Given the description of an element on the screen output the (x, y) to click on. 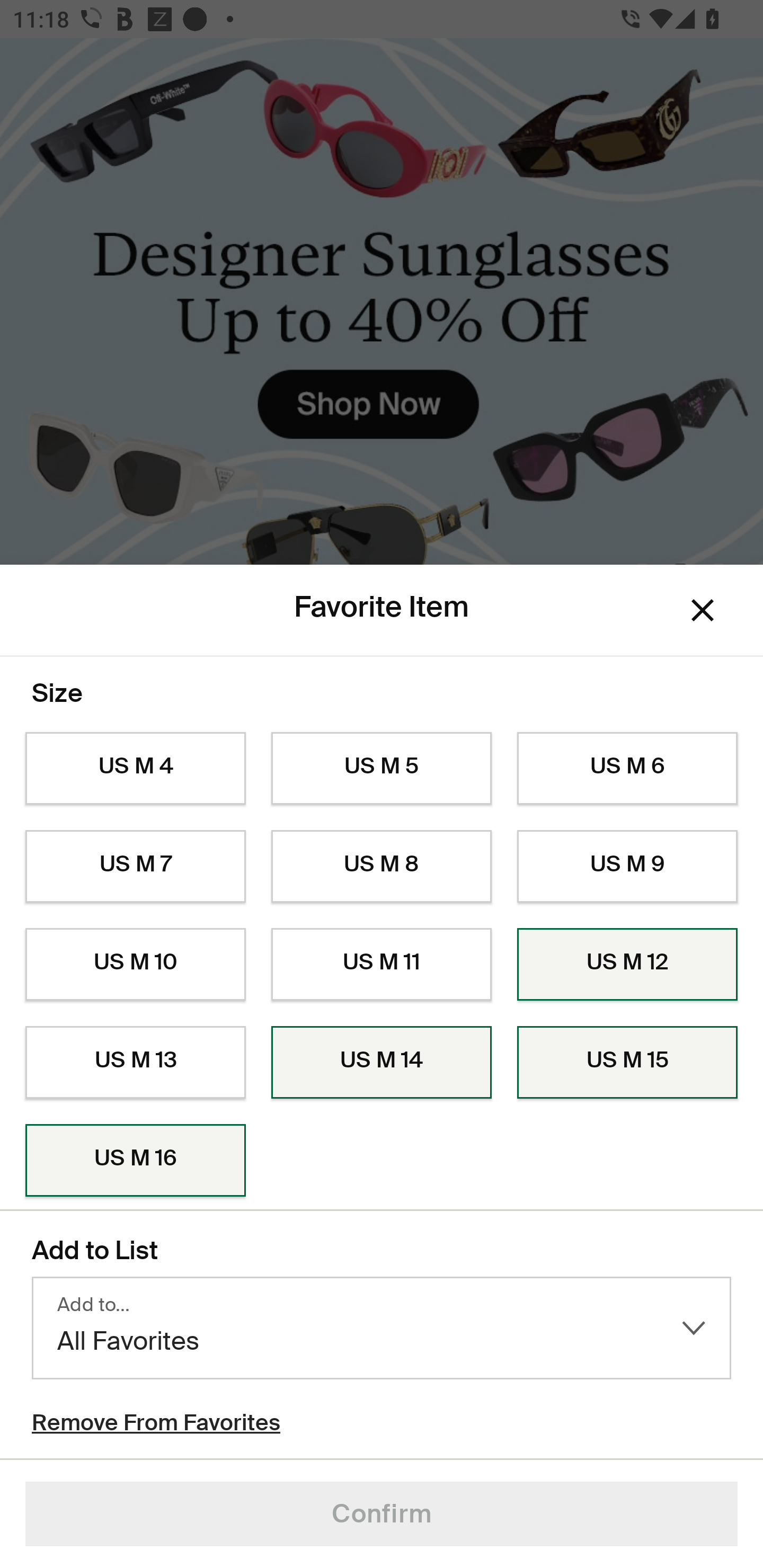
Dismiss (702, 610)
US M 4 (135, 768)
US M 5 (381, 768)
US M 6 (627, 768)
US M 7 (135, 865)
US M 8 (381, 865)
US M 9 (627, 865)
US M 10 (135, 964)
US M 11 (381, 964)
US M 12 (627, 964)
US M 13 (135, 1061)
US M 14 (381, 1061)
US M 15 (627, 1061)
US M 16 (135, 1160)
Add to… All Favorites (381, 1327)
Remove From Favorites (156, 1424)
Confirm (381, 1513)
